Given the description of an element on the screen output the (x, y) to click on. 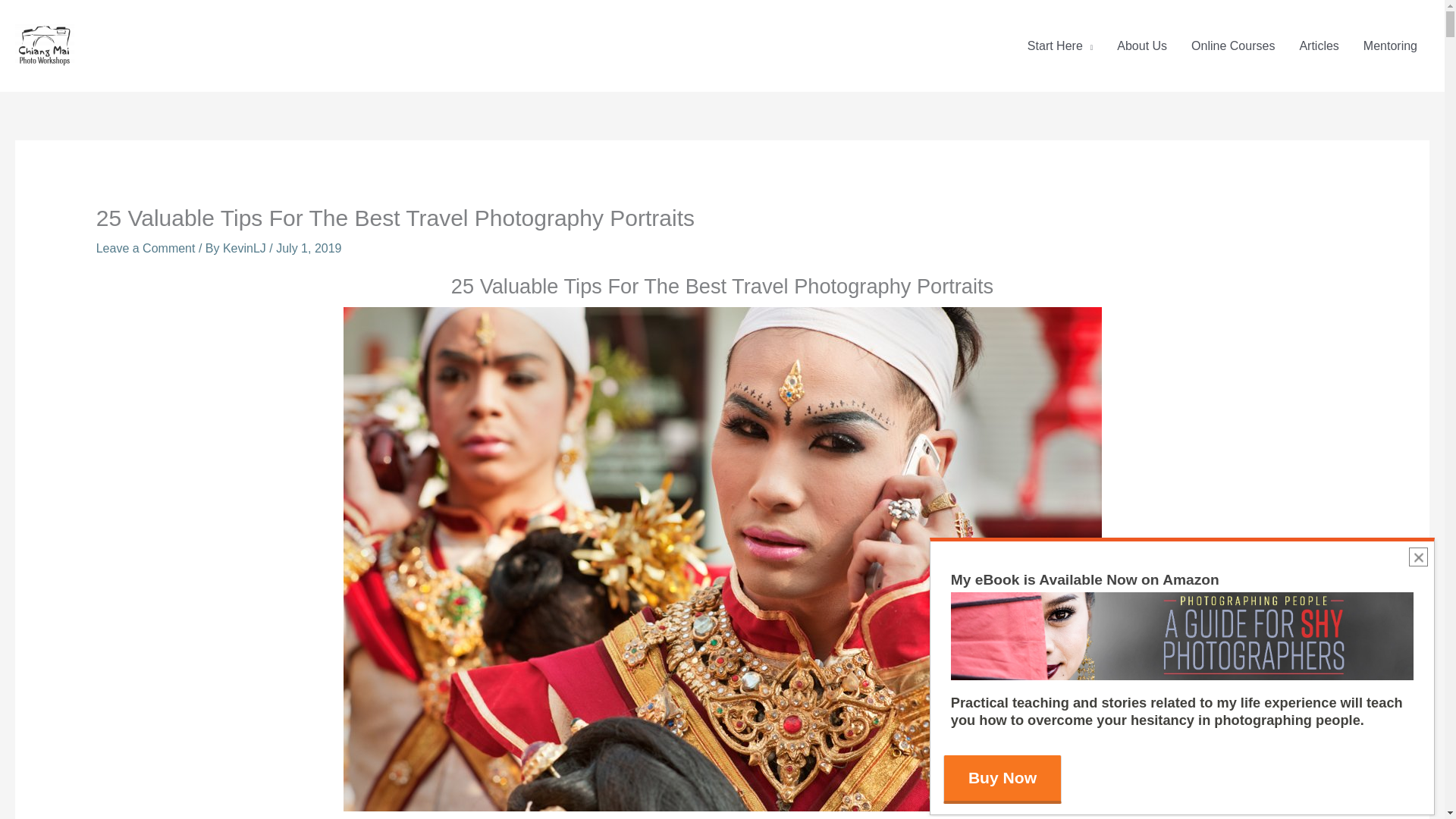
Leave a Comment (145, 247)
Mentoring (1390, 45)
KevinLJ (245, 247)
Articles (1319, 45)
Start Here (1059, 45)
About Us (1142, 45)
Online Courses (1233, 45)
View all posts by KevinLJ (245, 247)
